Given the description of an element on the screen output the (x, y) to click on. 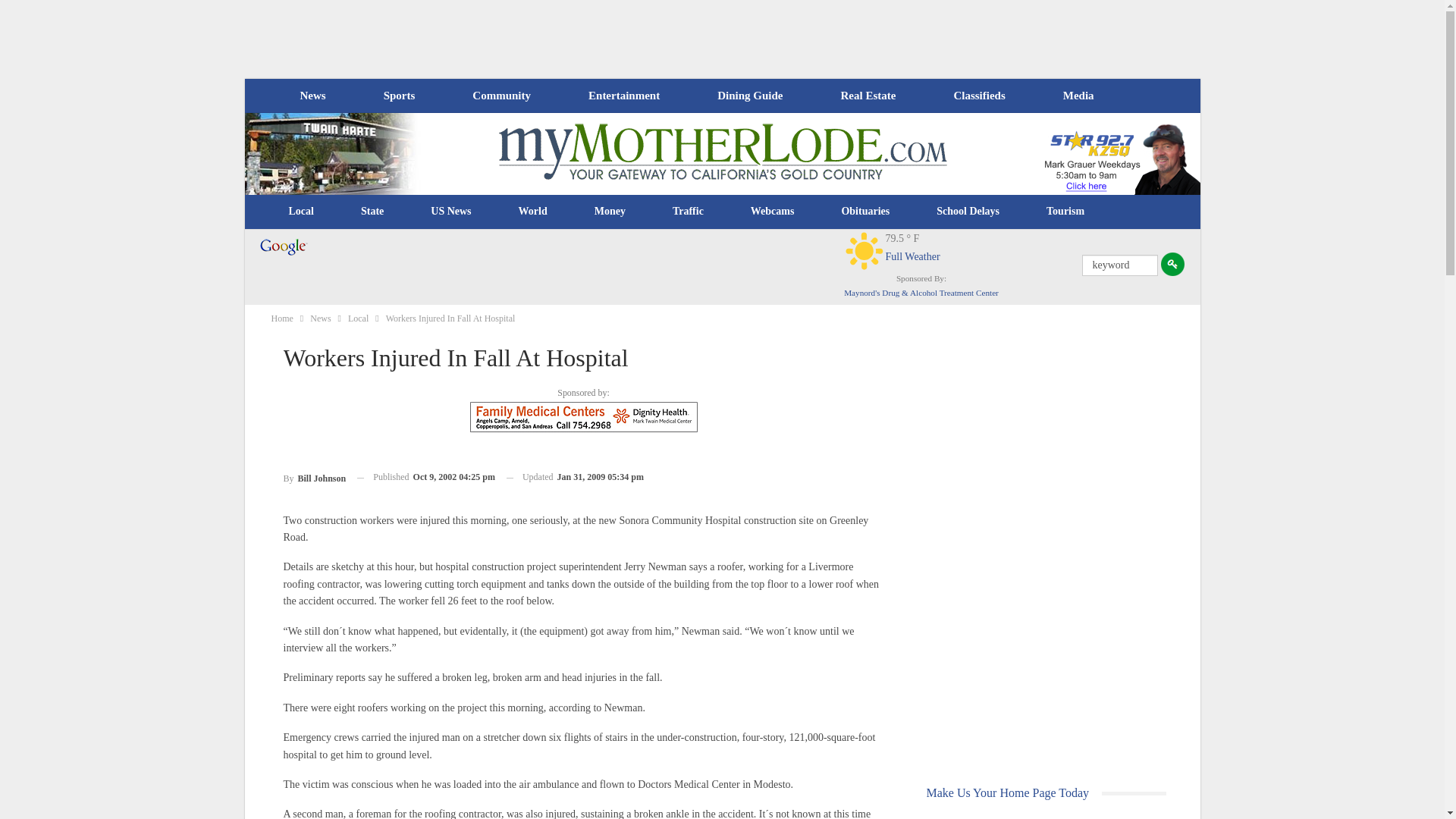
Entertainment (624, 95)
Browse Author Articles (314, 476)
Submit (1172, 264)
Real Estate (868, 95)
Sports (399, 95)
Community (501, 95)
Media (1078, 95)
Traffic (687, 211)
